Given the description of an element on the screen output the (x, y) to click on. 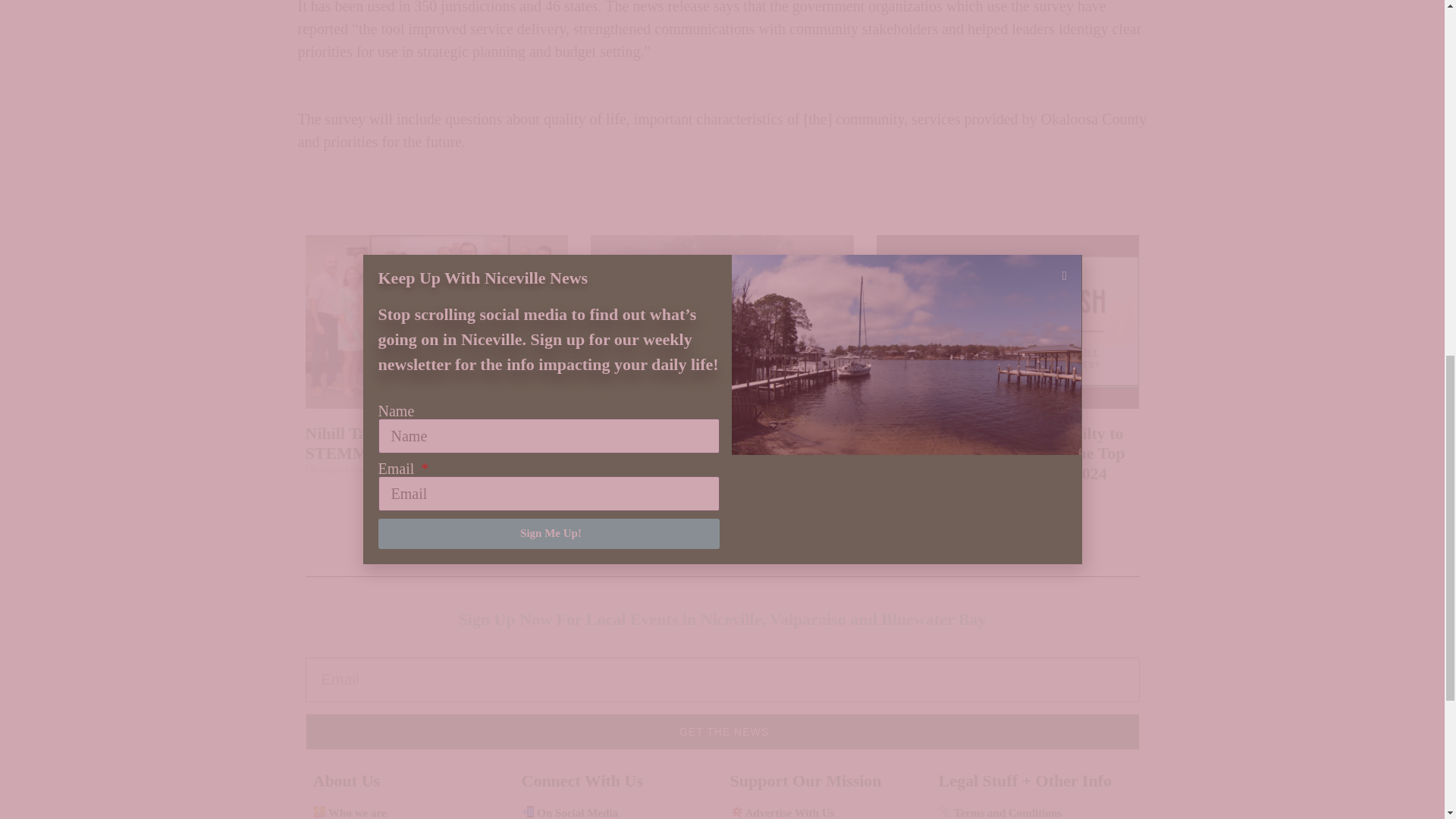
Nihill Taylor to Replace Martin at STEMM Academy (425, 443)
GET THE NEWS (721, 731)
Niceville Welcomes This New Bistro to Town! (718, 443)
Who we are (349, 812)
About Us (346, 780)
